Given the description of an element on the screen output the (x, y) to click on. 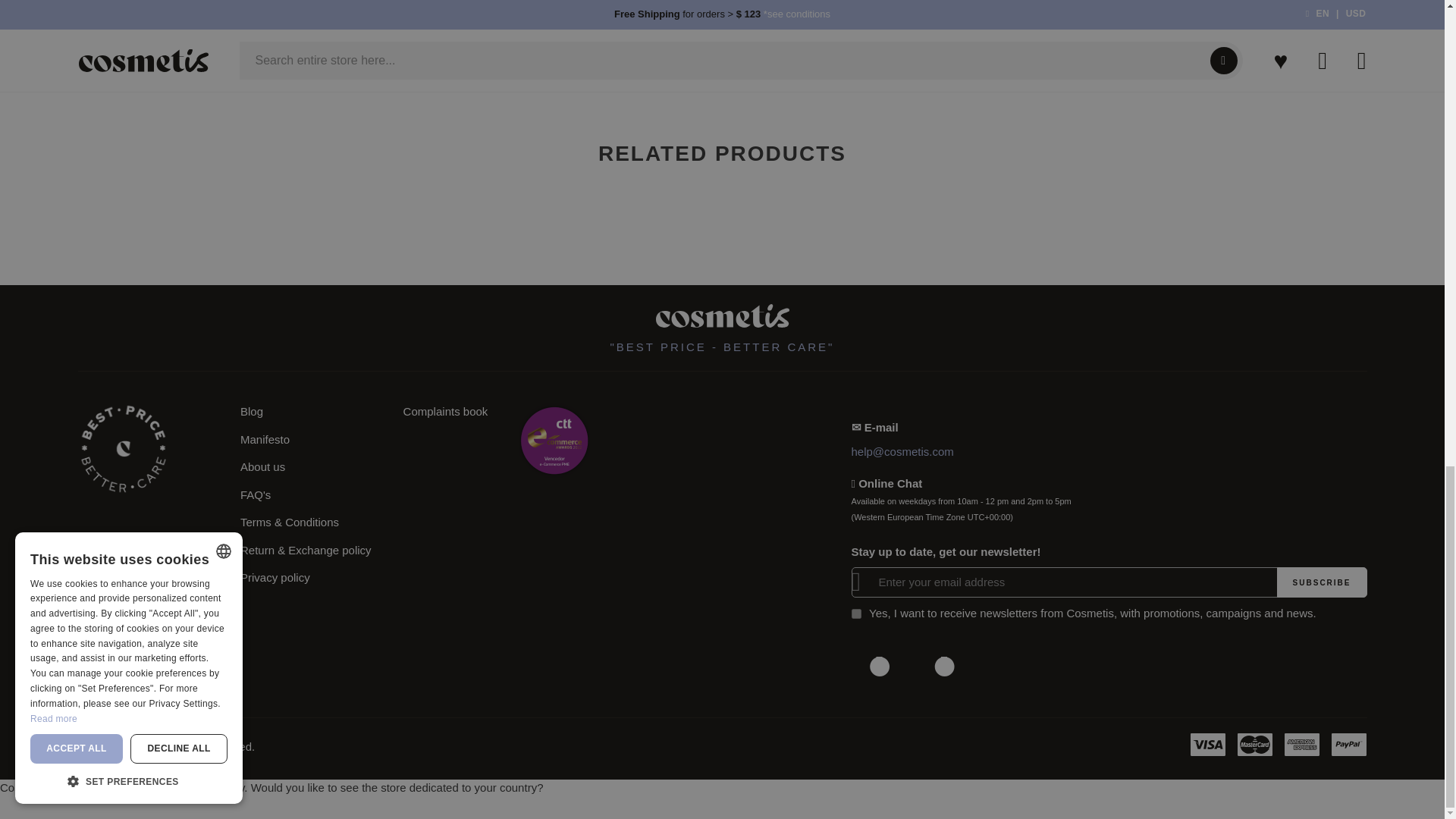
on (855, 614)
